Given the description of an element on the screen output the (x, y) to click on. 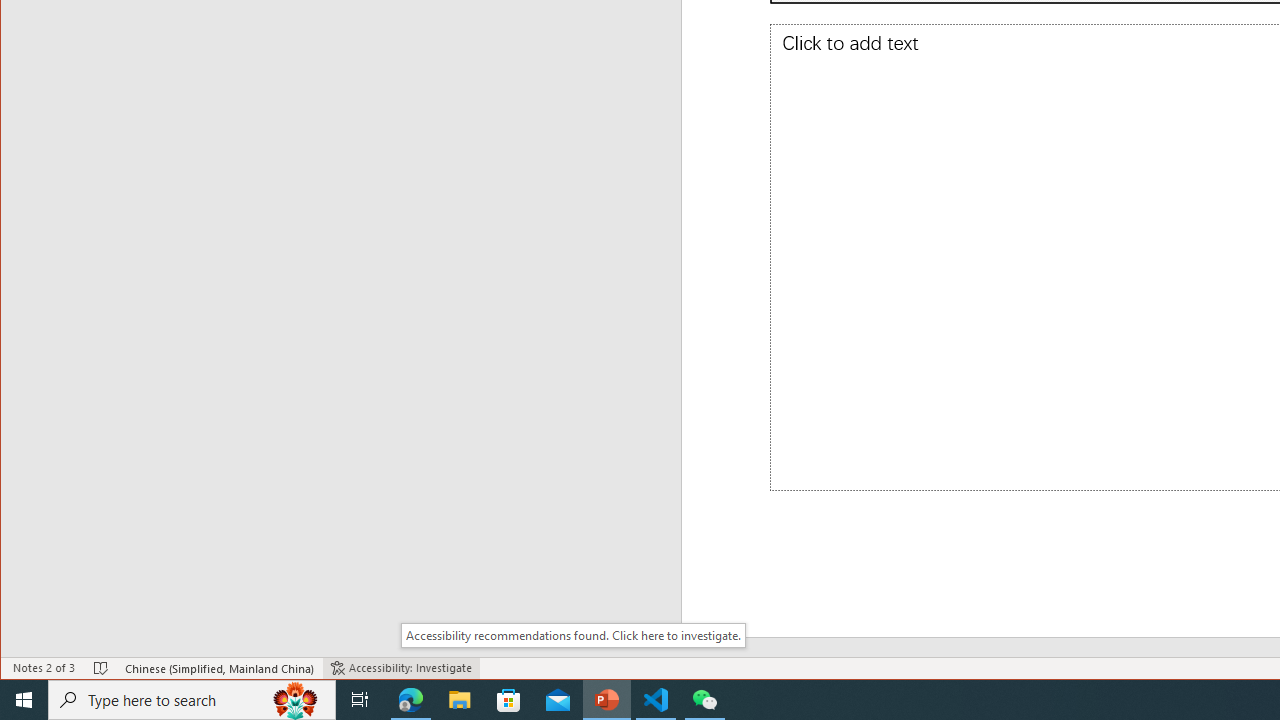
WeChat - 1 running window (704, 699)
